Given the description of an element on the screen output the (x, y) to click on. 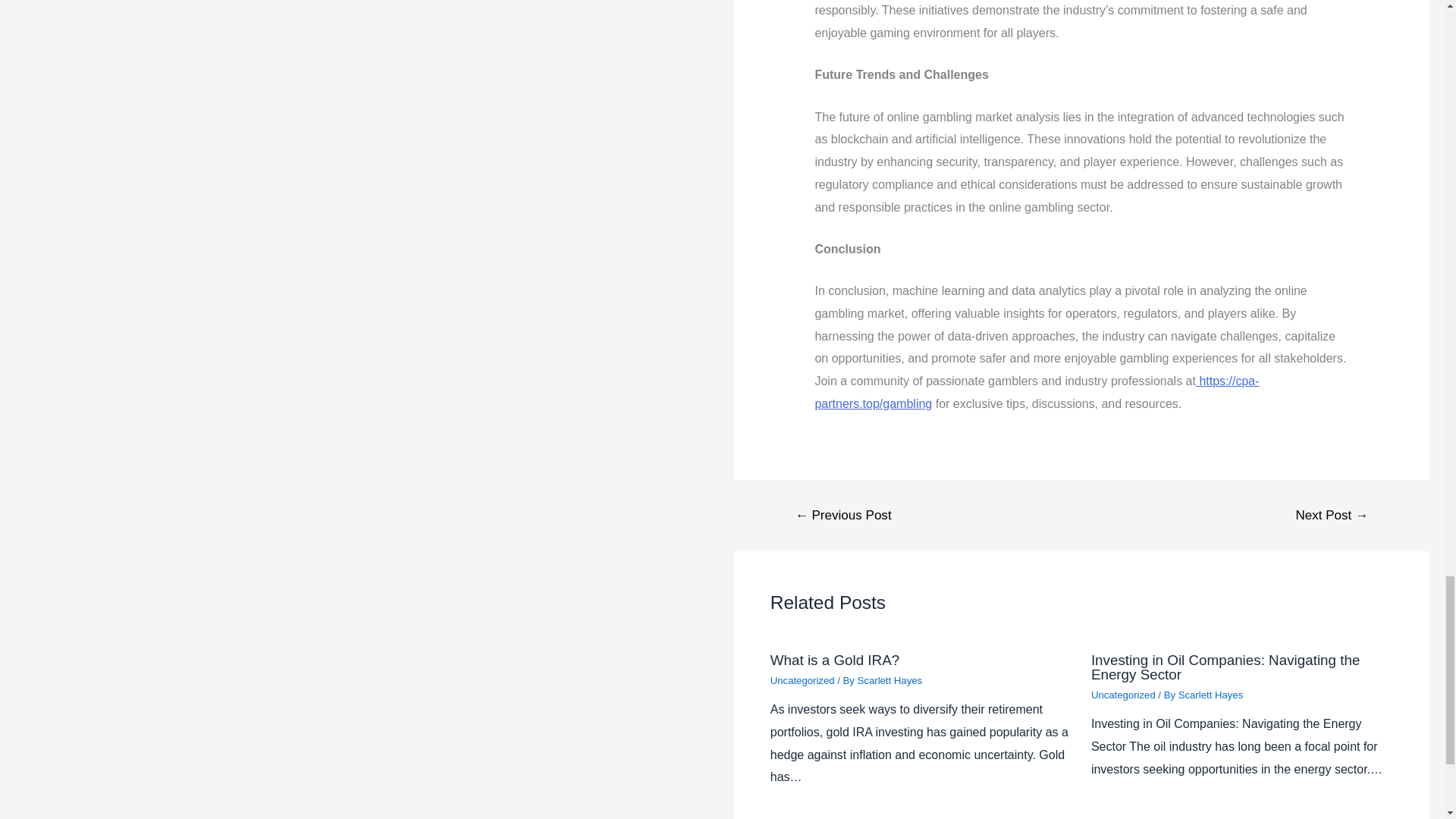
View all posts by Scarlett Hayes (1210, 695)
View all posts by Scarlett Hayes (890, 680)
